Given the description of an element on the screen output the (x, y) to click on. 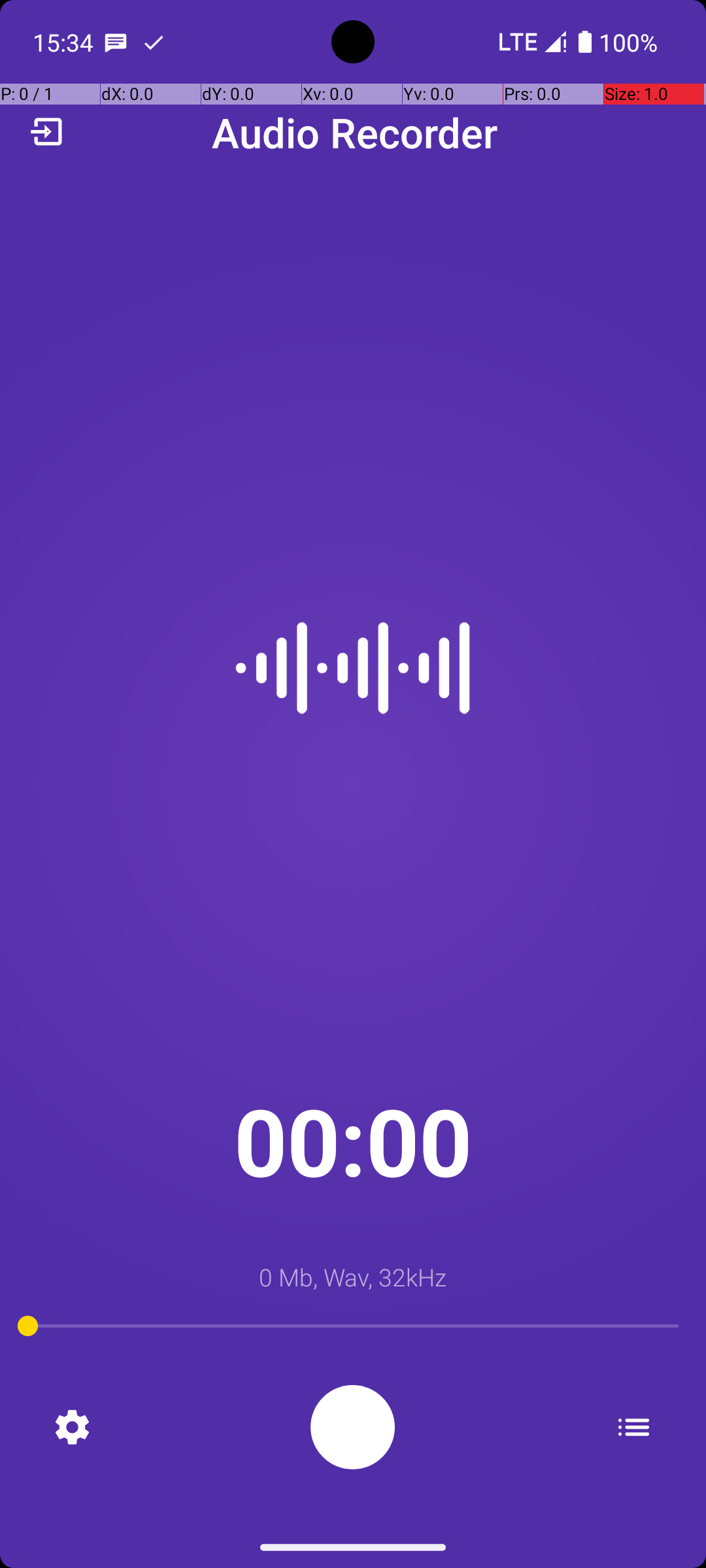
00:00 Element type: android.widget.TextView (352, 1140)
0 Mb, Wav, 32kHz Element type: android.widget.TextView (352, 1276)
Recording: %s Element type: android.widget.ImageButton (352, 1427)
SMS Messenger notification: Daniel Ali Element type: android.widget.ImageView (115, 41)
Contacts notification: Finished exporting contacts.vcf. Element type: android.widget.ImageView (153, 41)
